Given the description of an element on the screen output the (x, y) to click on. 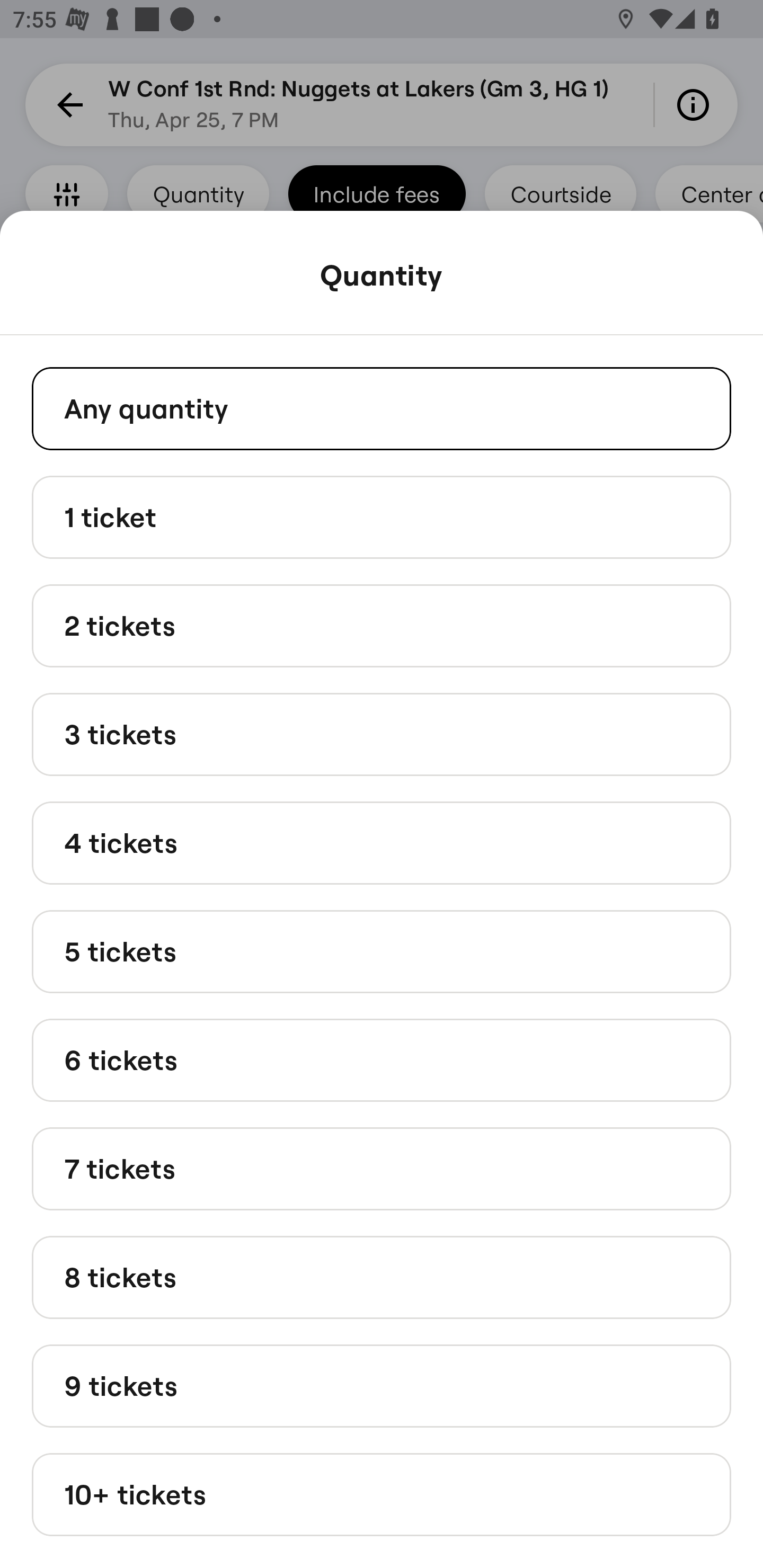
Any quantity (381, 408)
1 ticket (381, 516)
2 tickets (381, 625)
3 tickets (381, 734)
4 tickets (381, 842)
5 tickets (381, 950)
6 tickets (381, 1060)
7 tickets (381, 1168)
8 tickets (381, 1276)
9 tickets (381, 1384)
10+ tickets (381, 1494)
